Given the description of an element on the screen output the (x, y) to click on. 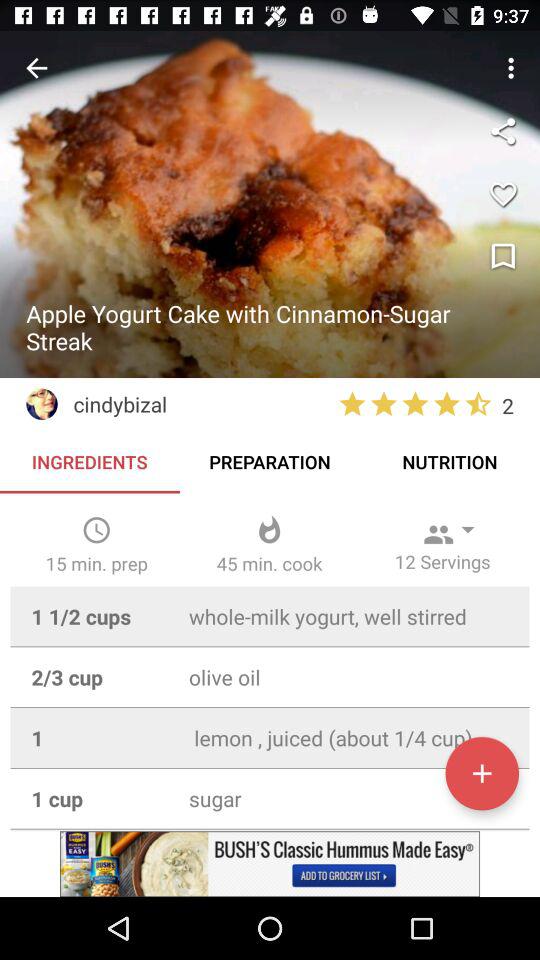
back (36, 68)
